Given the description of an element on the screen output the (x, y) to click on. 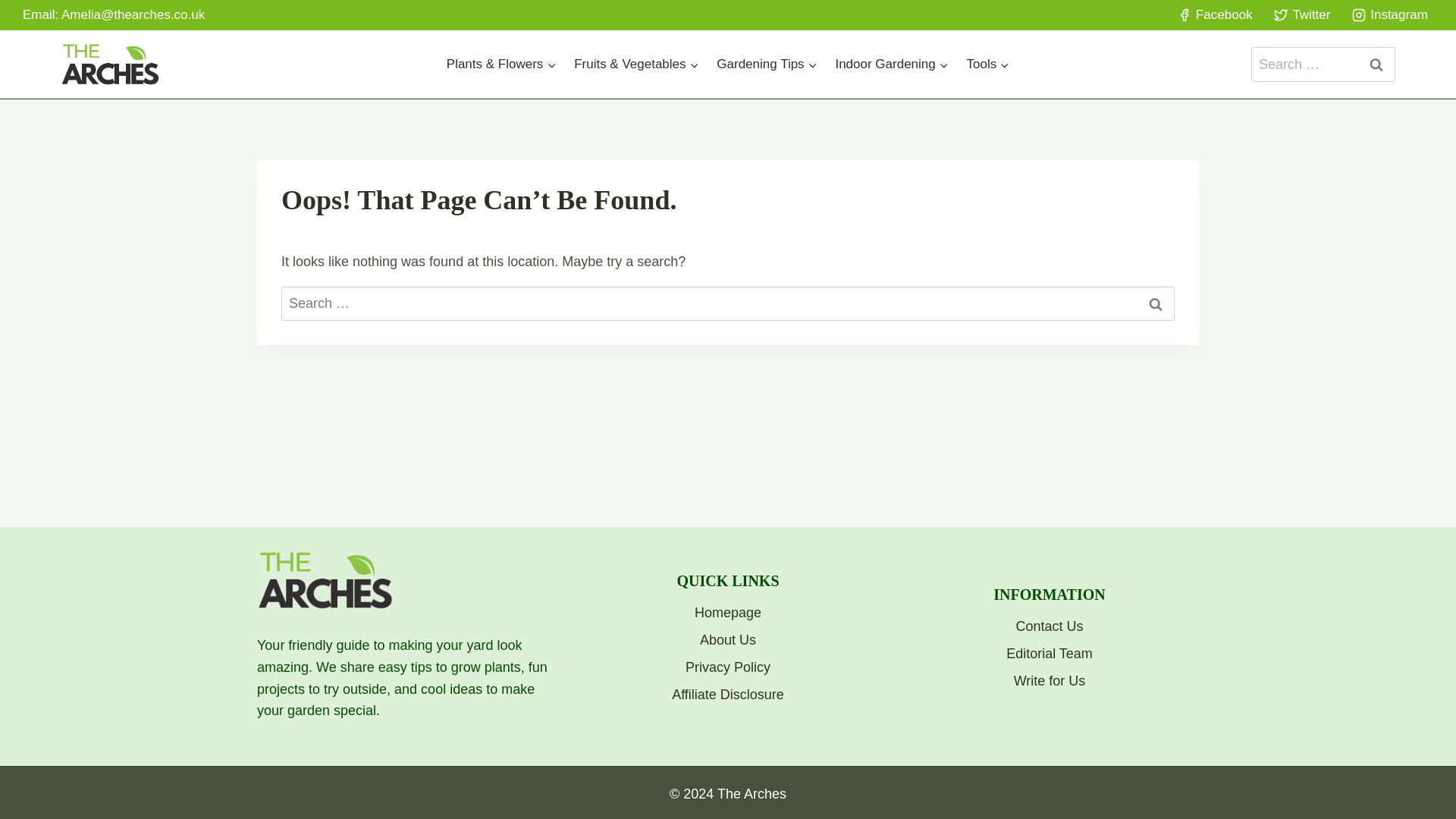
Search (1155, 303)
Search (1375, 63)
Twitter (1301, 14)
Instagram (1389, 14)
Search (1155, 303)
Search (1375, 63)
Facebook (1214, 14)
